Given the description of an element on the screen output the (x, y) to click on. 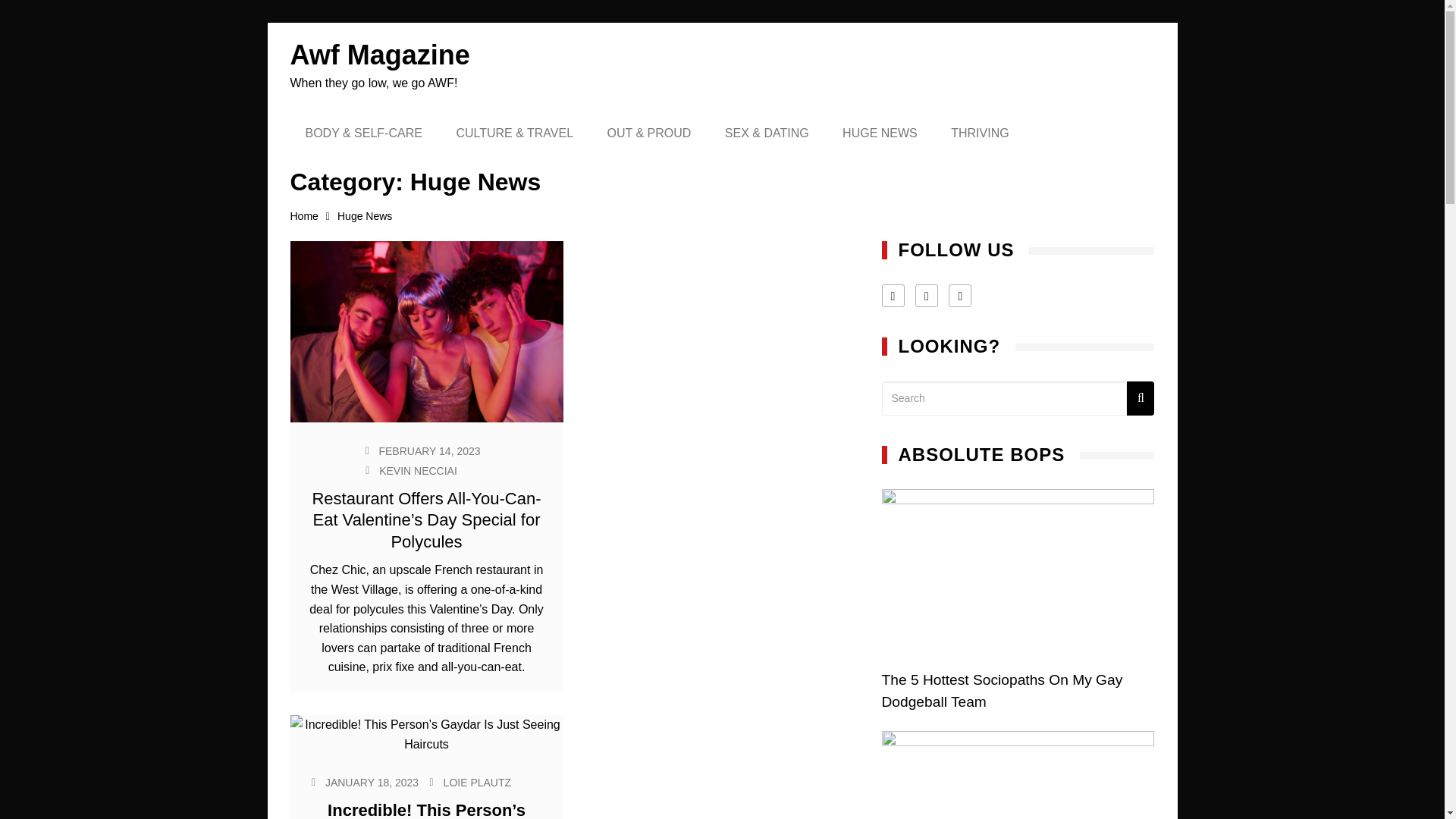
LOIE PLAUTZ (477, 782)
FEBRUARY 14, 2023 (429, 451)
KEVIN NECCIAI (417, 470)
Awf Magazine (378, 54)
Home (312, 216)
THRIVING (979, 133)
JANUARY 18, 2023 (371, 782)
HUGE NEWS (880, 133)
